Given the description of an element on the screen output the (x, y) to click on. 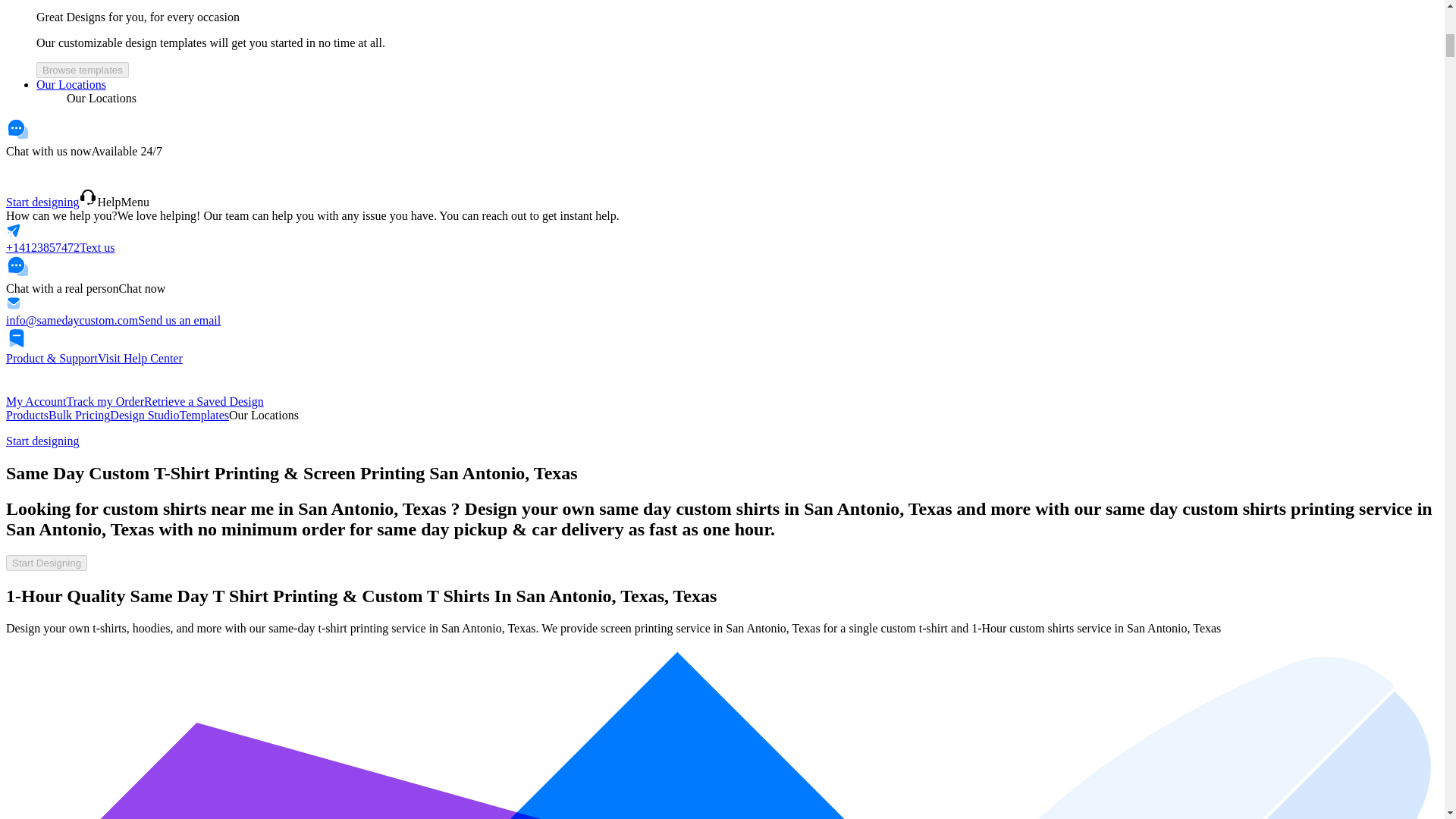
Bulk Pricing (79, 414)
Our Locations (71, 83)
Help (99, 201)
Start designing (41, 440)
Retrieve a Saved Design (203, 400)
Browse templates (82, 69)
Templates (203, 414)
SameDayCustom (51, 171)
Start Designing (46, 562)
My Account (35, 400)
Products (26, 414)
Start Designing (46, 562)
Track my Order (105, 400)
Design Studio (144, 414)
Menu (134, 201)
